Given the description of an element on the screen output the (x, y) to click on. 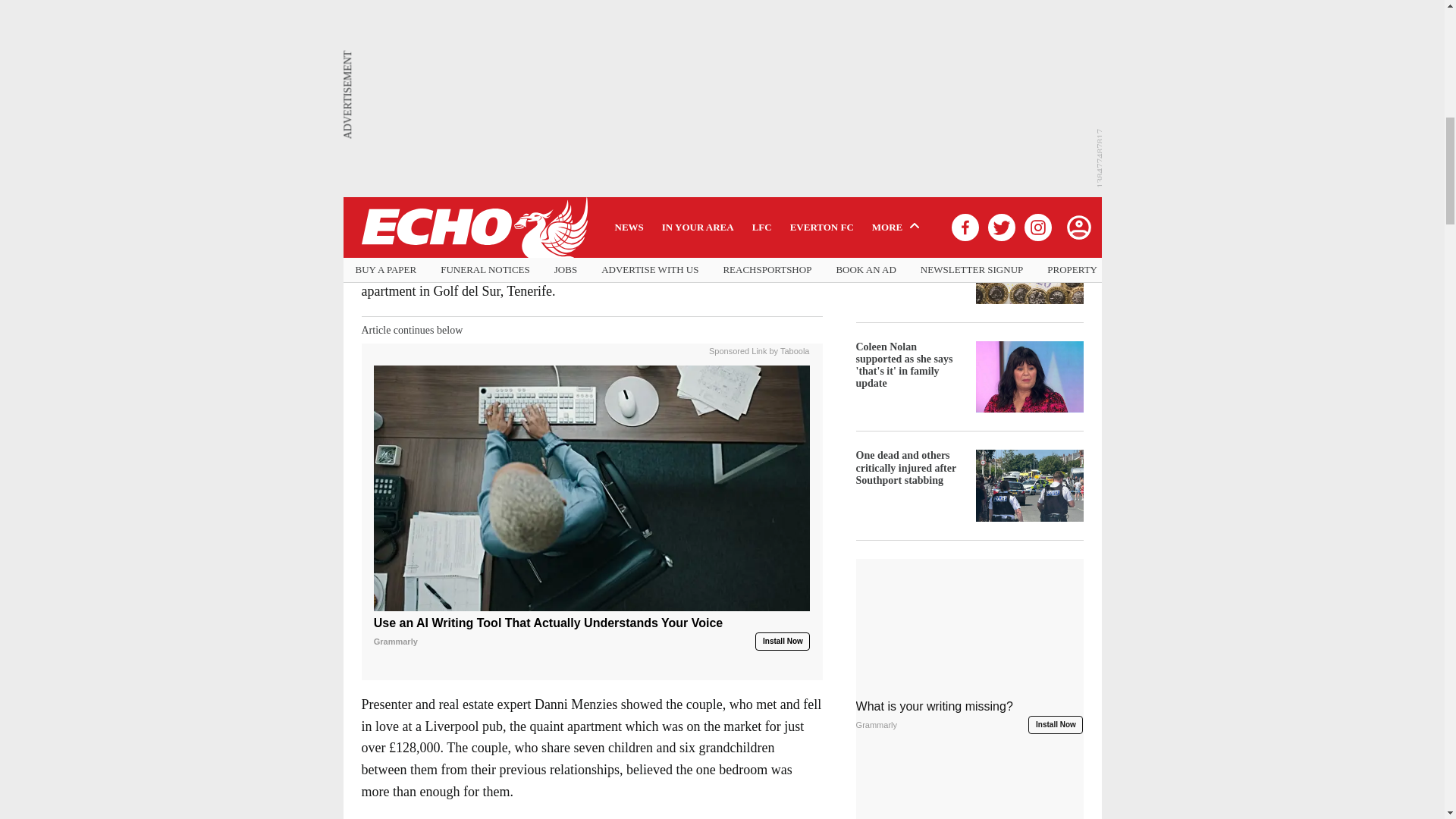
Use an AI Writing Tool That Actually Understands Your Voice (592, 487)
Sponsored Link (738, 349)
Install Now (782, 641)
Use an AI Writing Tool That Actually Understands Your Voice (592, 632)
by Taboola (788, 349)
